Given the description of an element on the screen output the (x, y) to click on. 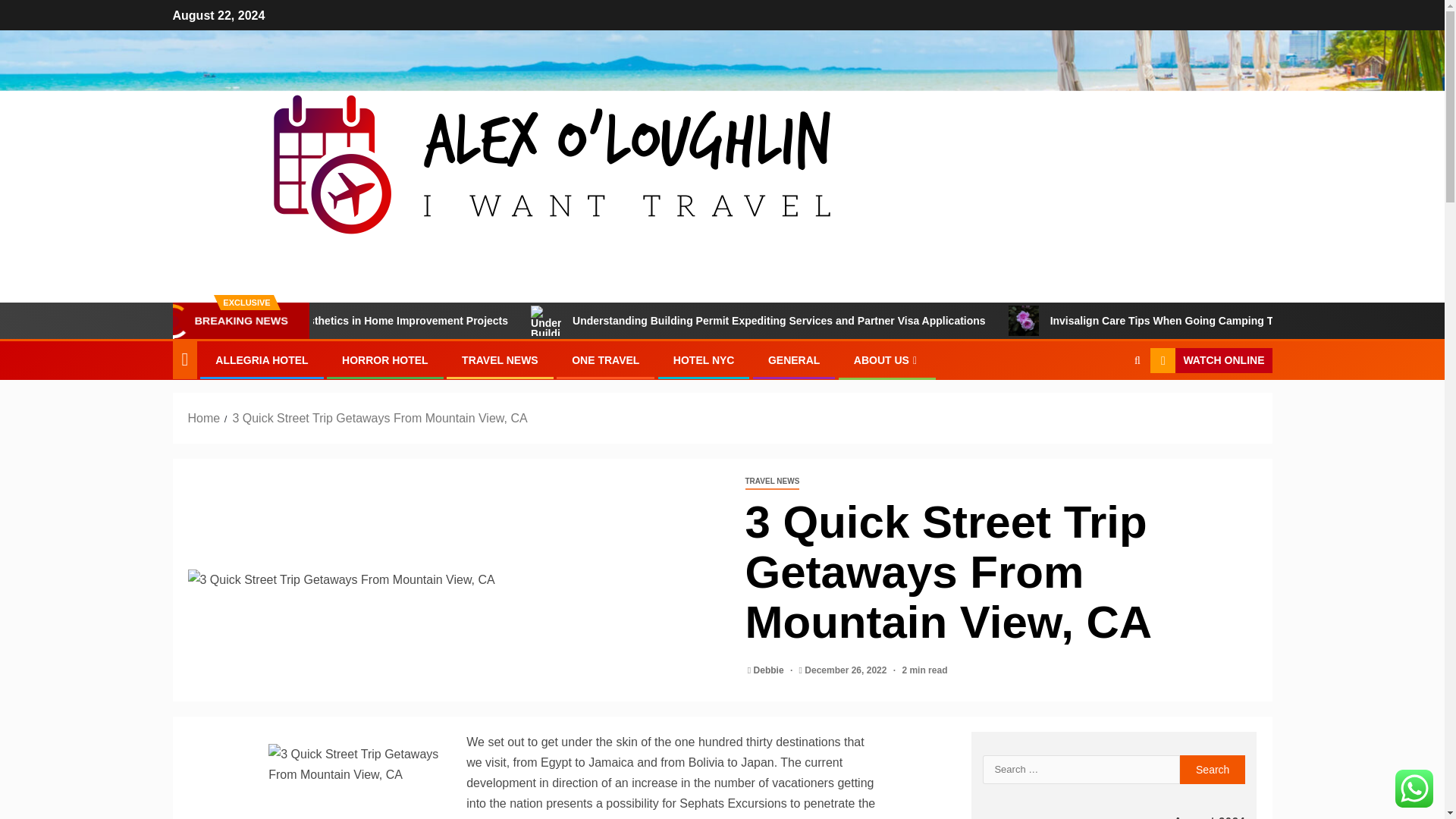
HORROR HOTEL (385, 359)
Search (1212, 769)
GENERAL (793, 359)
Debbie (770, 670)
ABOUT US (886, 359)
TRAVEL NEWS (499, 359)
3 Quick Street Trip Getaways From Mountain View, CA (454, 579)
TRAVEL NEWS (771, 481)
ALLEGRIA HOTEL (261, 359)
